Given the description of an element on the screen output the (x, y) to click on. 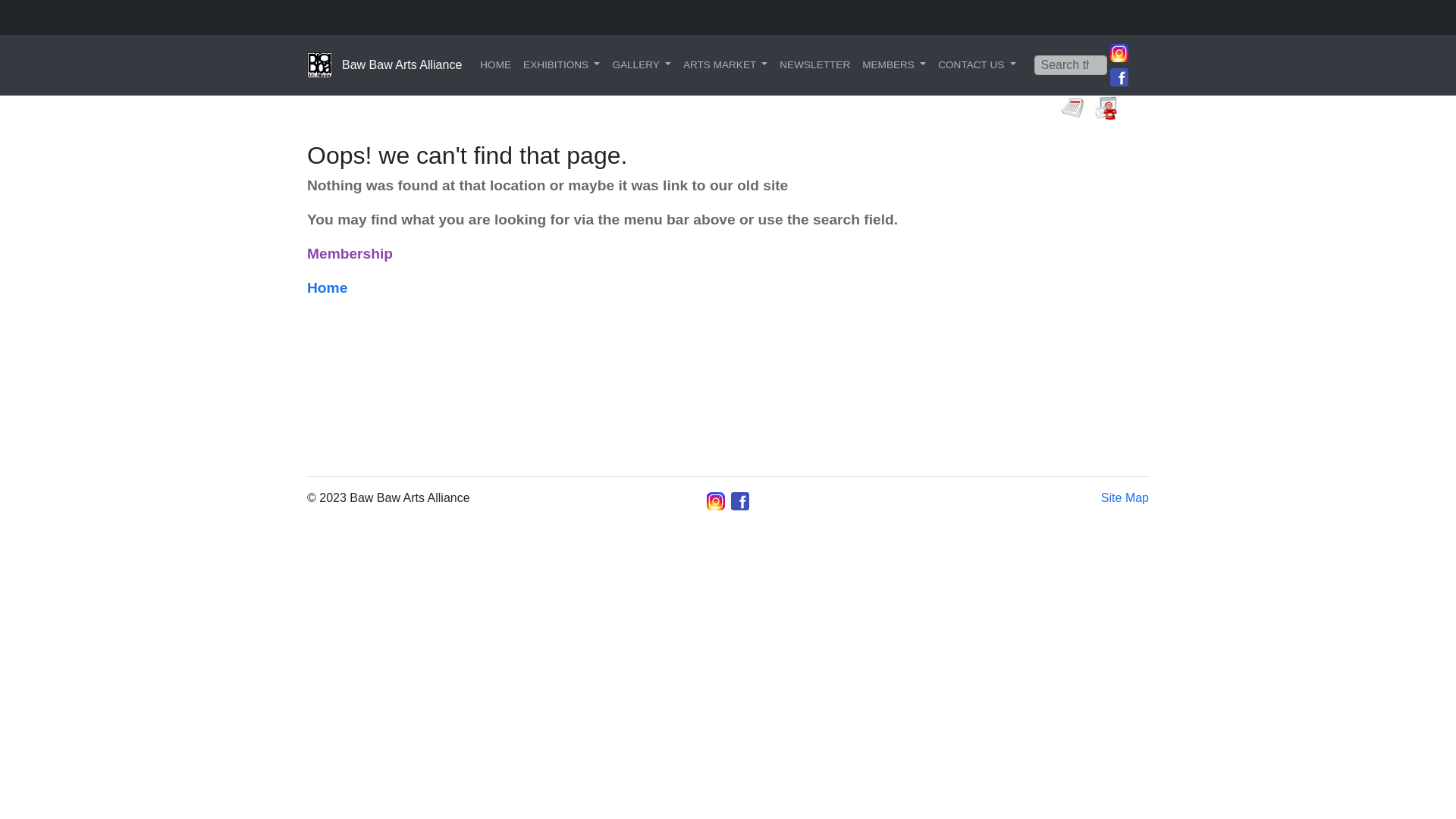
ARTS MARKET Element type: text (725, 64)
CONTACT US Element type: text (976, 64)
Site Map Element type: text (1124, 497)
Baw Baw Arts Alliance - Facebook Element type: hover (1119, 77)
Home Element type: text (327, 287)
Baw Baw Arts Alliance - Instagram Element type: hover (715, 501)
HOME Element type: text (495, 64)
NEWSLETTER Element type: text (814, 64)
MEMBERS Element type: text (893, 64)
Bbaa Element type: hover (740, 500)
Contact Baw Baw Arts Alliance Element type: hover (1106, 107)
EXHIBITIONS Element type: text (561, 64)
Baw Baw Arts Alliance - Facebook Element type: hover (740, 501)
Membership Element type: text (349, 253)
Baw Baw Arts Alliance - Reminders and Calendar Events Element type: hover (1072, 107)
Baw Baw Arts Alliance - Instagram Element type: hover (1119, 52)
Search this site Element type: text (51, 14)
Baw Baw Arts Alliance Element type: text (384, 64)
GALLERY Element type: text (640, 64)
Bbaa Element type: hover (1119, 75)
